Given the description of an element on the screen output the (x, y) to click on. 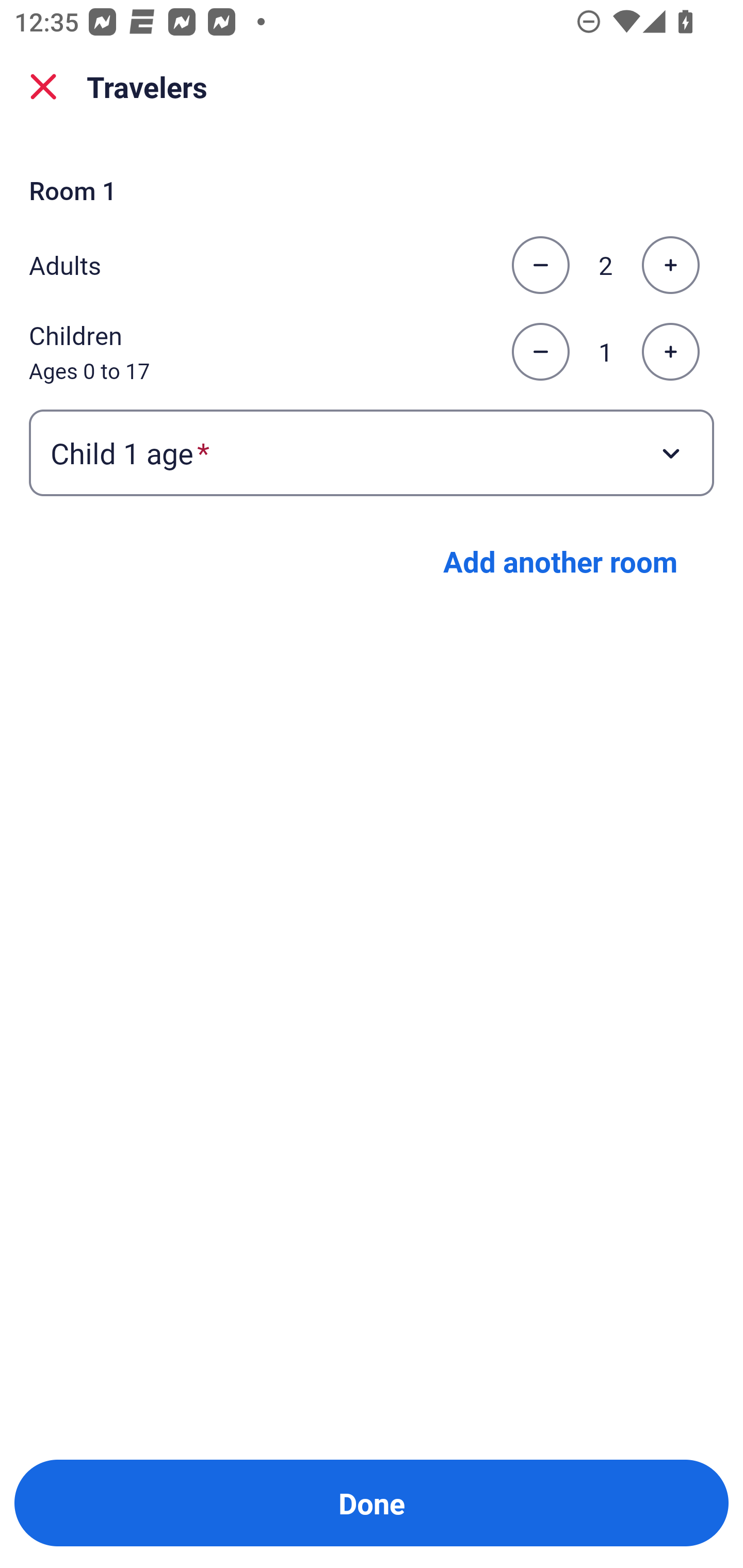
close (43, 86)
Decrease the number of adults (540, 264)
Increase the number of adults (670, 264)
Decrease the number of children (540, 351)
Increase the number of children (670, 351)
Child 1 age required Button (371, 452)
Add another room (560, 561)
Done (371, 1502)
